Given the description of an element on the screen output the (x, y) to click on. 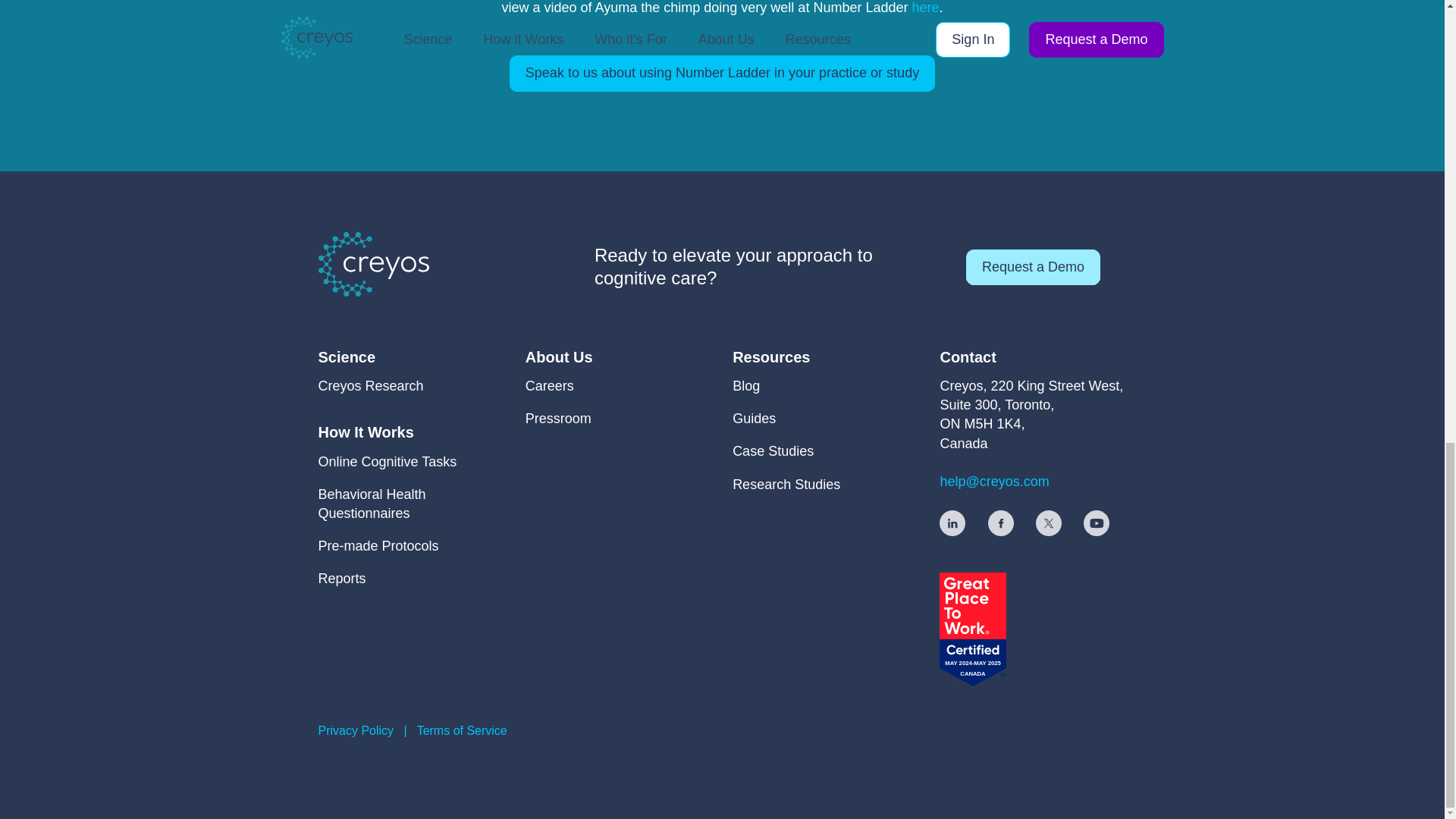
x-icon (1048, 523)
linkedin-icon (952, 523)
here (925, 7)
Request a Demo (1033, 267)
footer-logo (373, 264)
Request a Demo (1033, 267)
Science (370, 357)
facebook-icon (1000, 523)
